Given the description of an element on the screen output the (x, y) to click on. 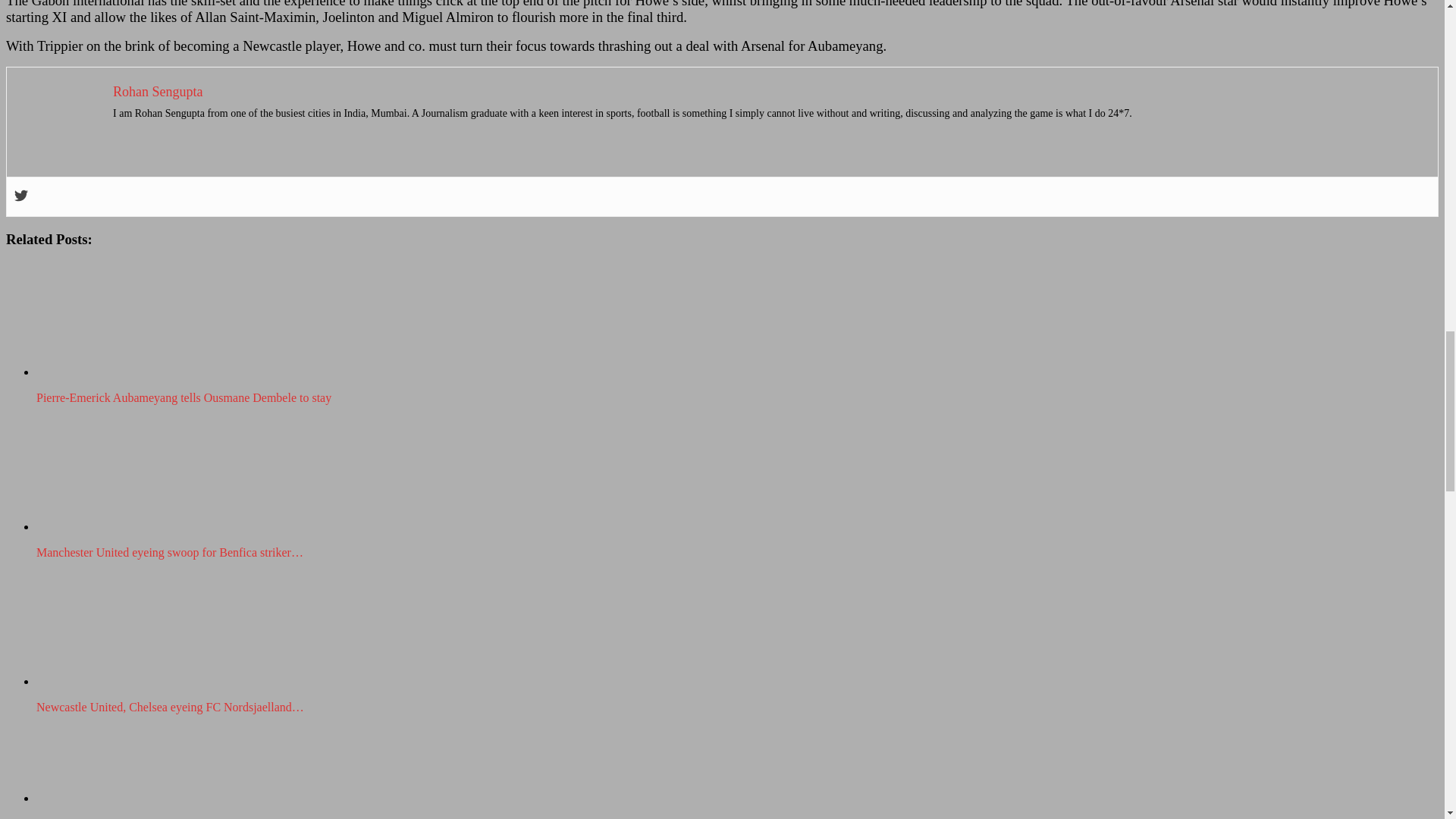
Pierre-Emerick Aubameyang tells Ousmane Dembele to stay (123, 318)
